Given the description of an element on the screen output the (x, y) to click on. 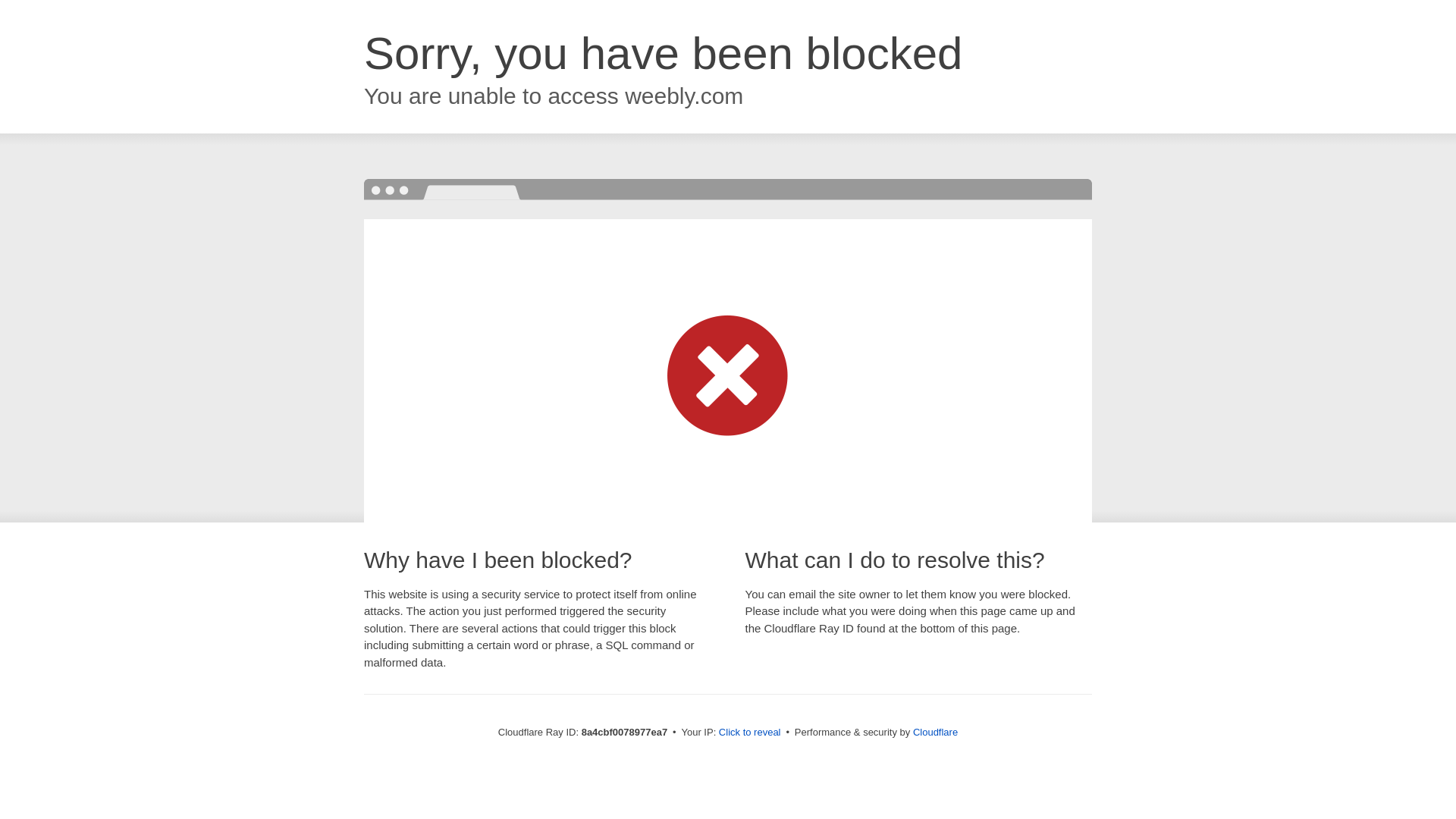
Cloudflare (935, 731)
Click to reveal (749, 732)
